Given the description of an element on the screen output the (x, y) to click on. 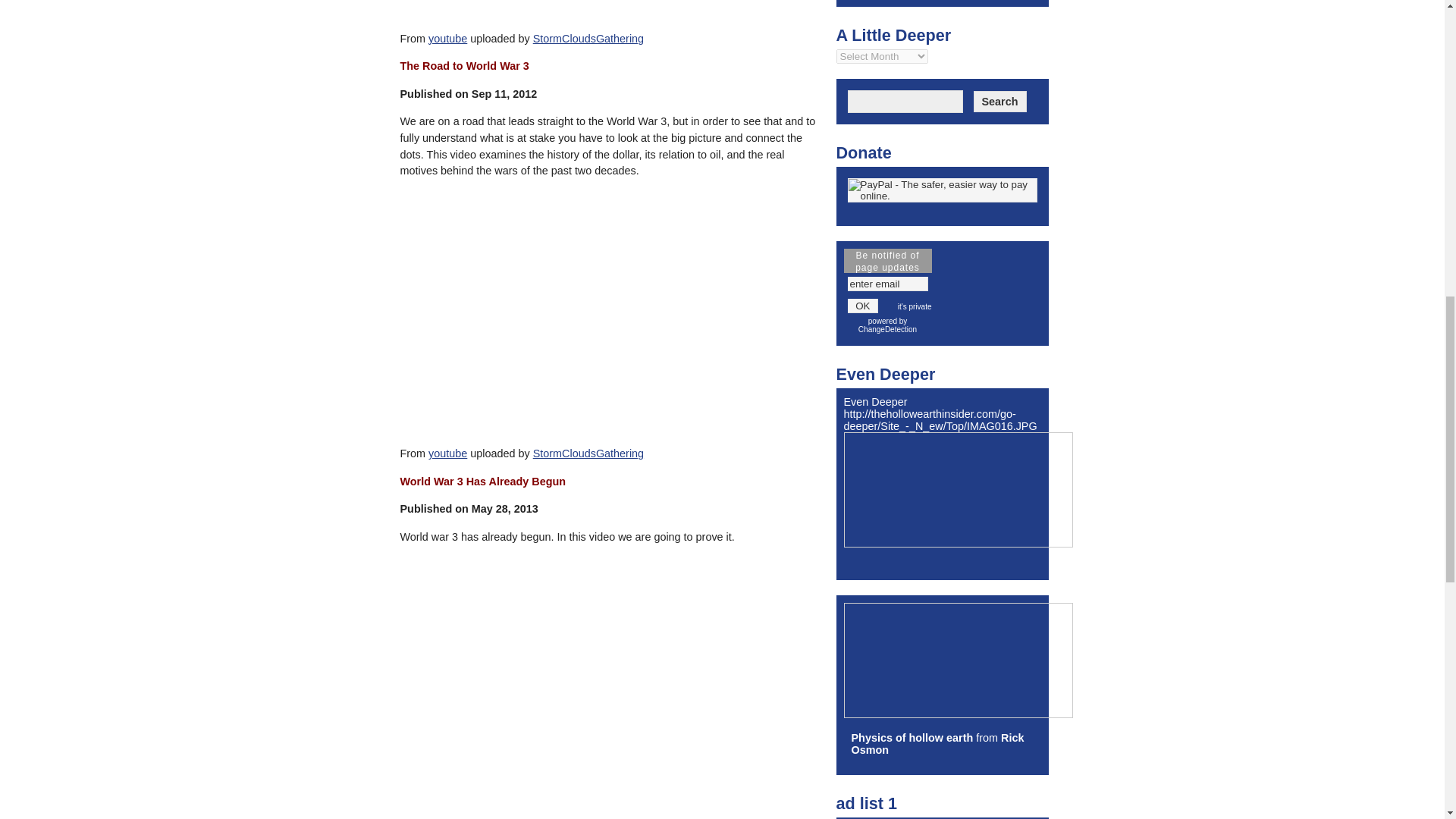
Physics of Hollow Earth (911, 737)
StormCloudsGathering (587, 453)
StormCloudsGathering (587, 38)
enter email (887, 283)
 OK  (863, 305)
youtube (447, 38)
youtube (447, 453)
Search (1000, 101)
